Given the description of an element on the screen output the (x, y) to click on. 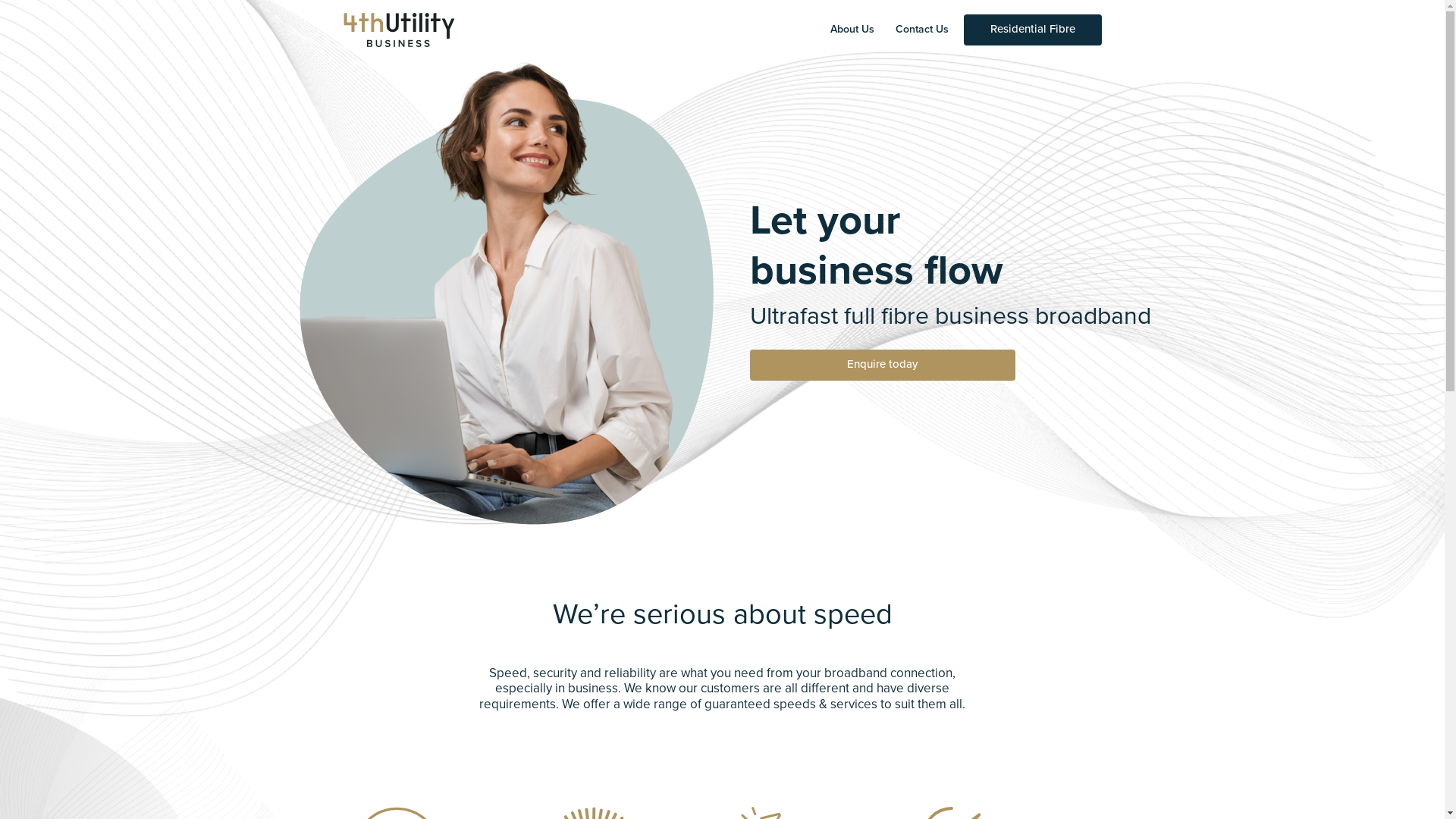
Residential Fibre Element type: text (1032, 29)
Enquire today Element type: text (881, 364)
About Us Element type: text (852, 29)
Contact Us Element type: text (921, 29)
